Given the description of an element on the screen output the (x, y) to click on. 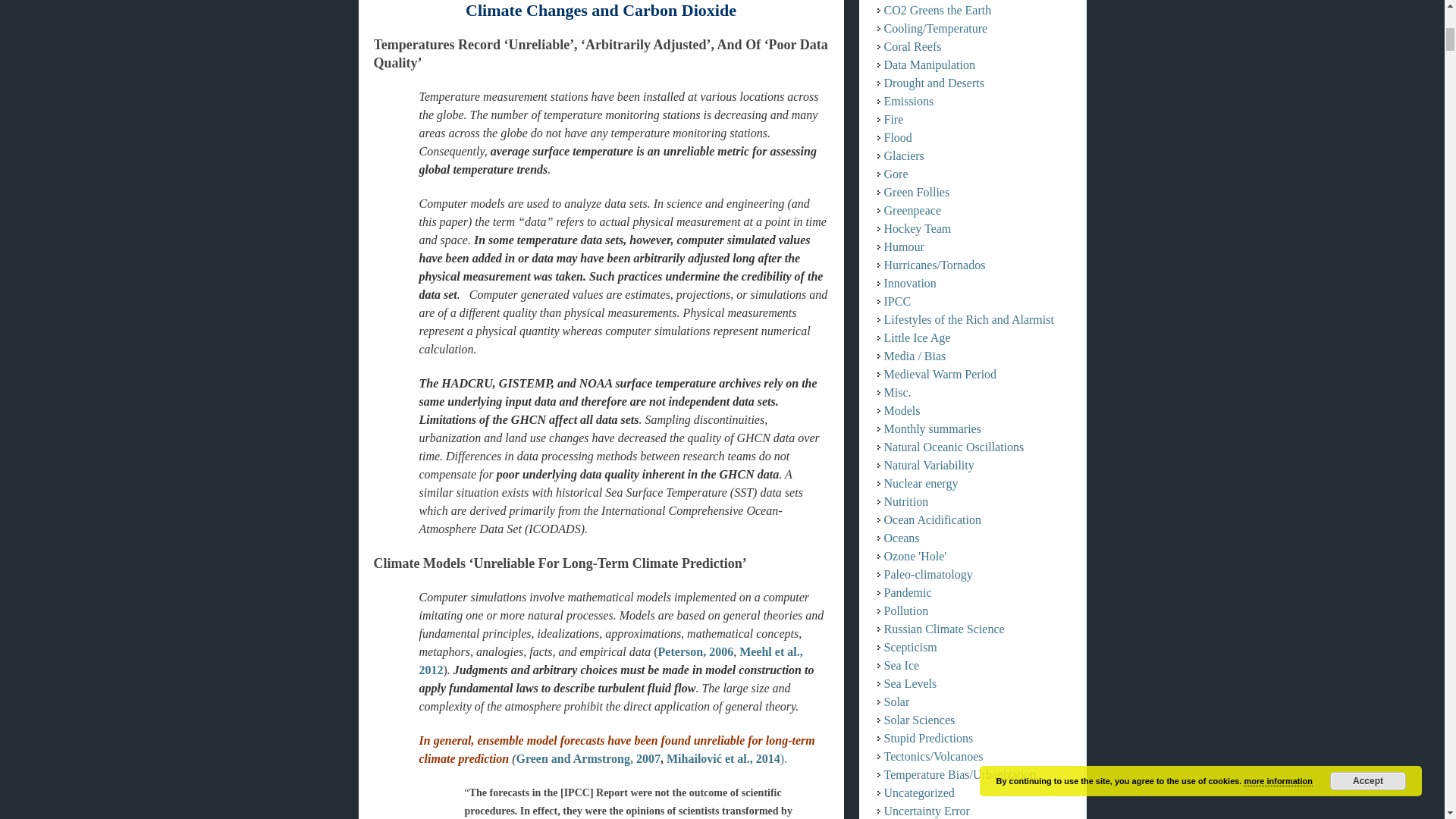
Meehl et al., 2012 (610, 660)
Green and Armstrong, 2007 (588, 758)
Peterson, 2006 (695, 651)
